Given the description of an element on the screen output the (x, y) to click on. 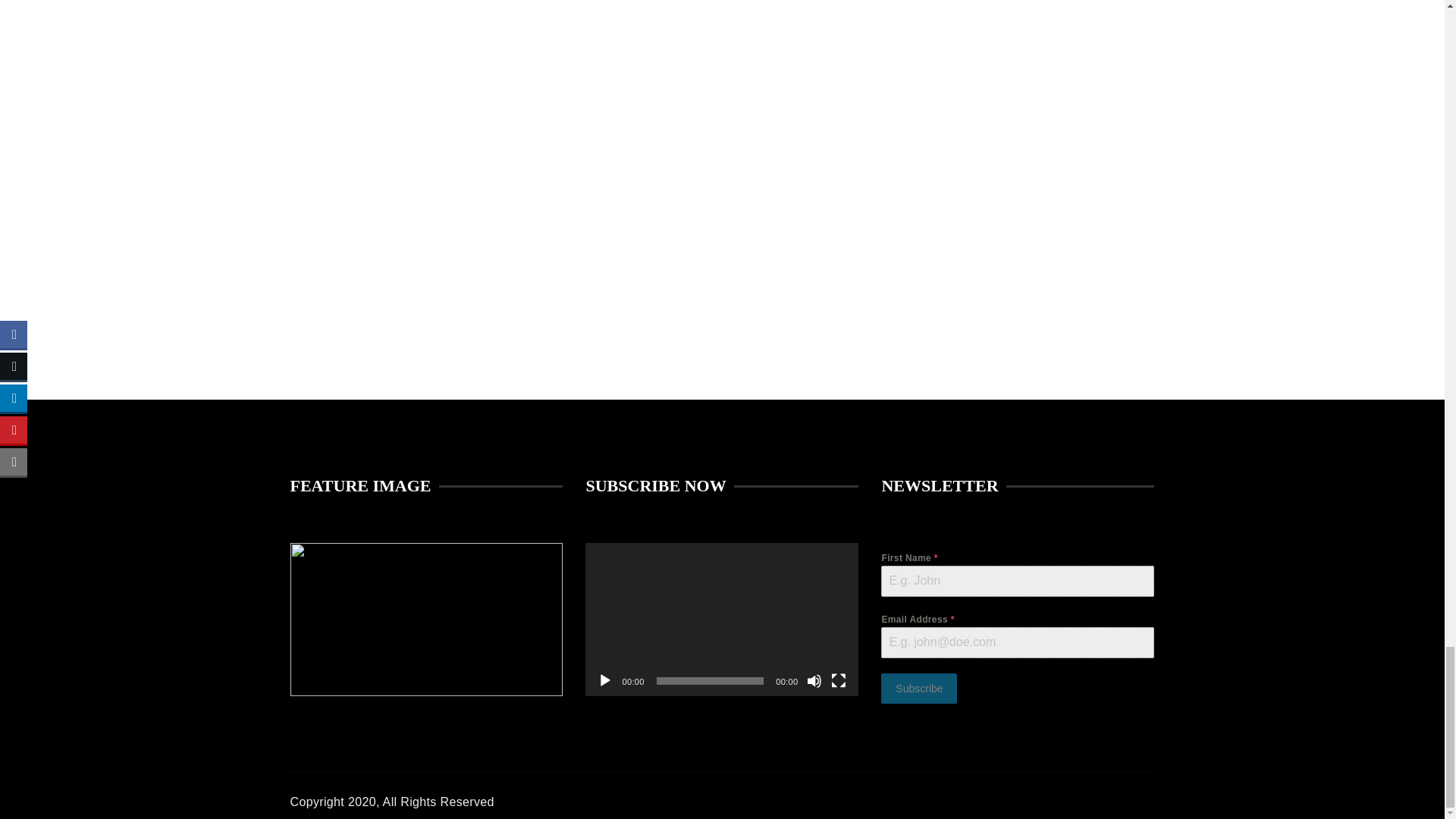
Fullscreen (838, 680)
Play (604, 680)
Mute (814, 680)
